Given the description of an element on the screen output the (x, y) to click on. 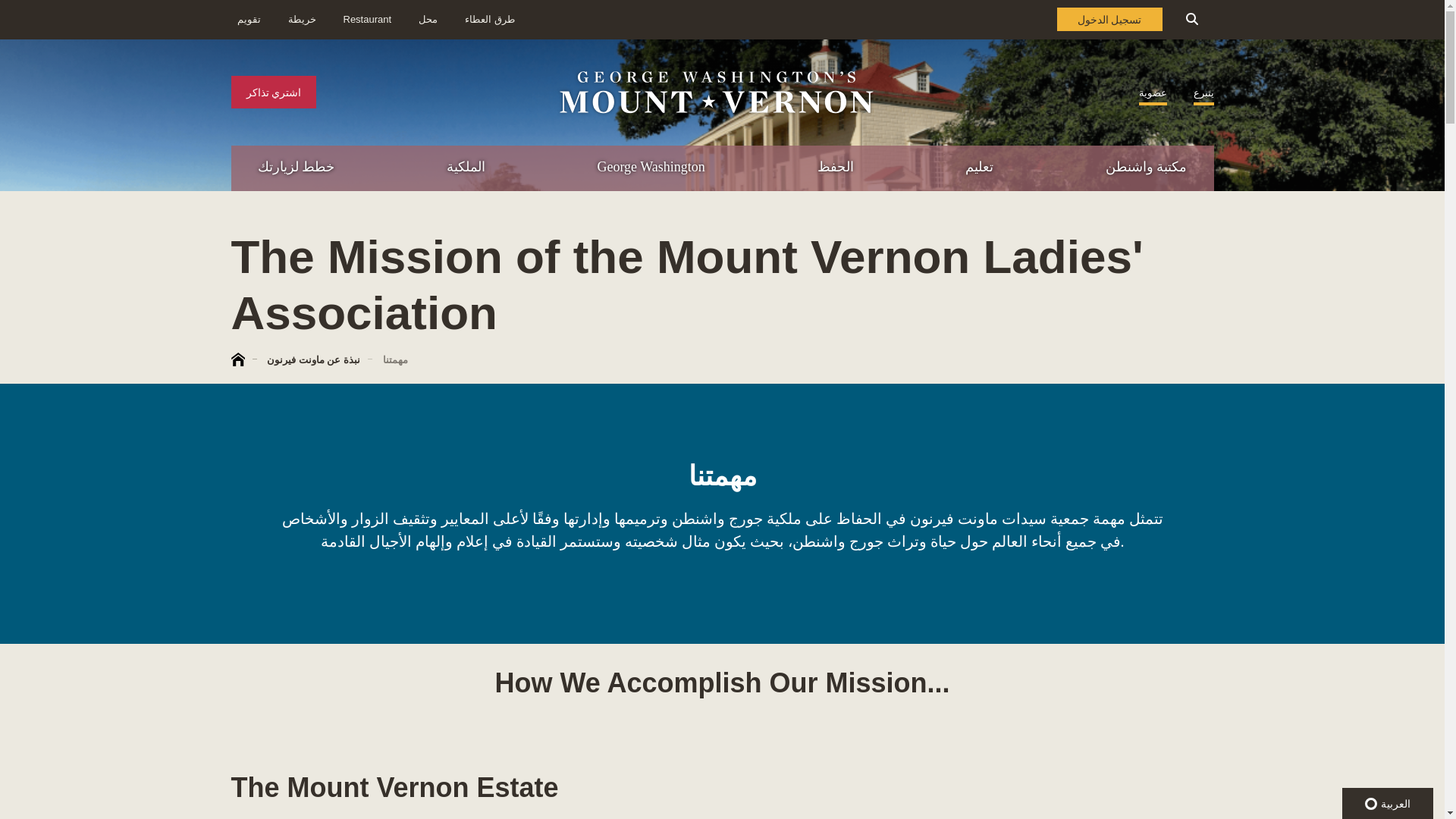
RESTAURANT (1377, 232)
SUPPORT (1283, 263)
Restaurant (428, 19)
Restaurant (366, 19)
